Given the description of an element on the screen output the (x, y) to click on. 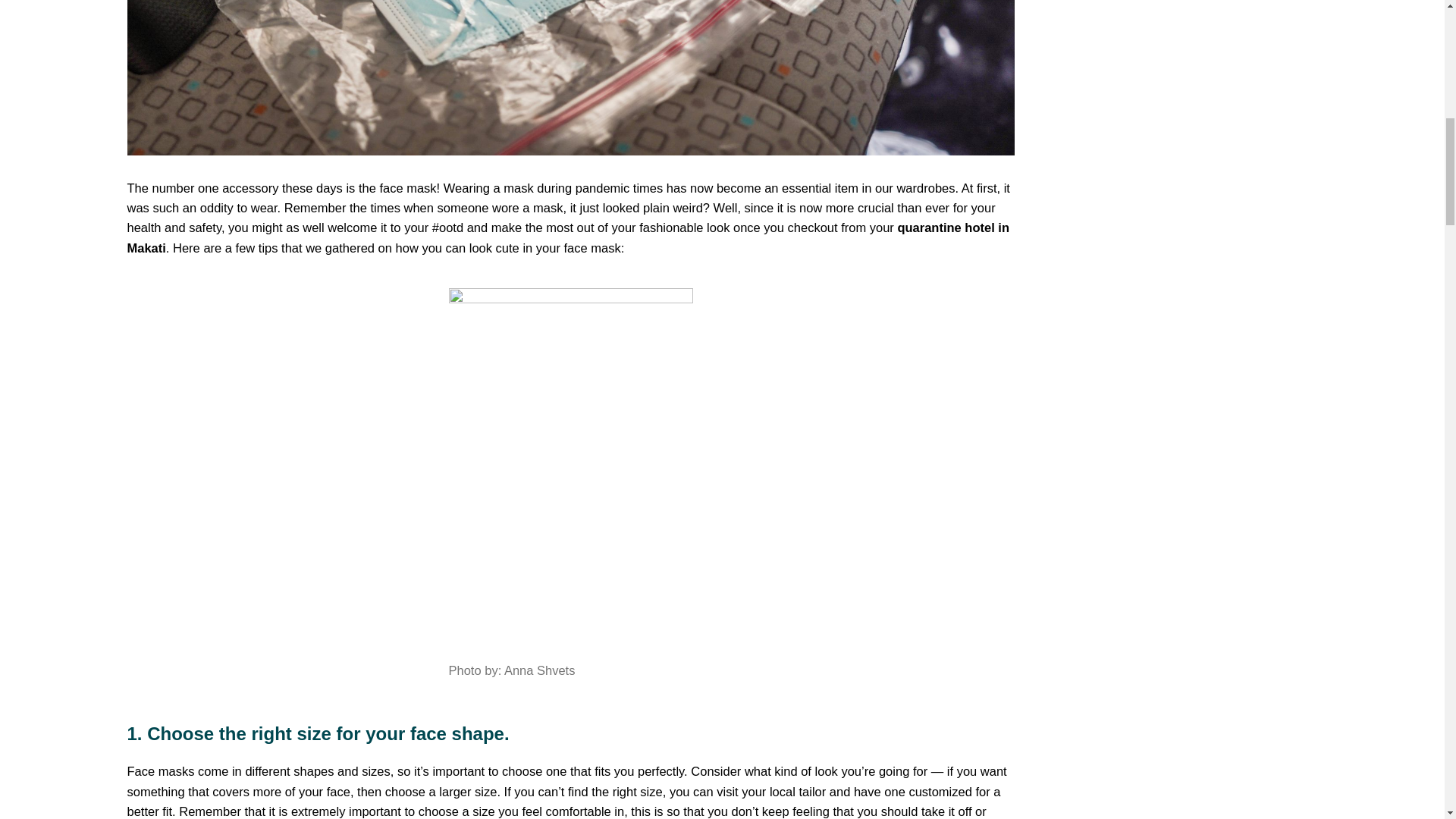
quarantine hotel in Makati (569, 236)
